Given the description of an element on the screen output the (x, y) to click on. 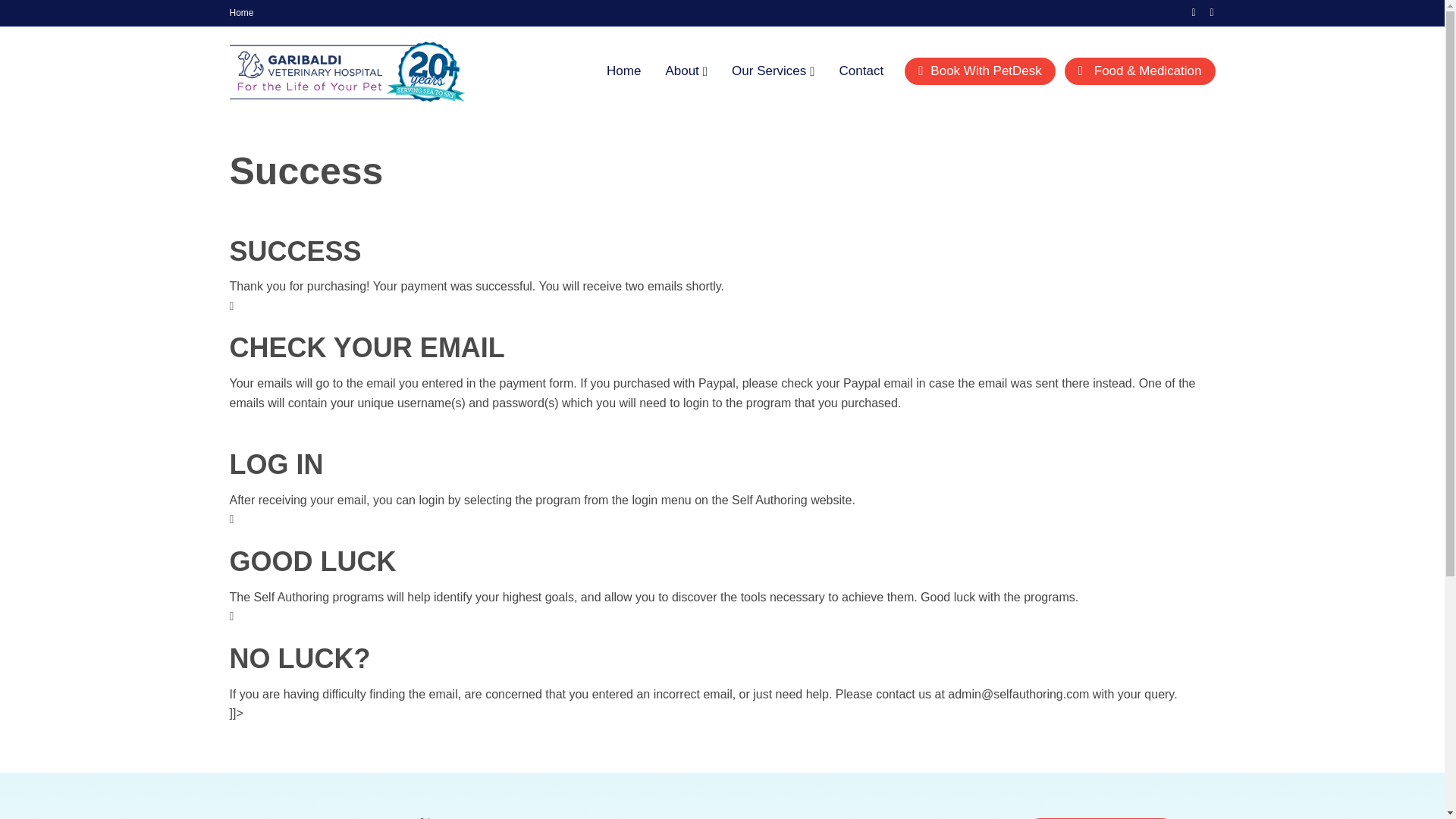
Contact (861, 70)
Home (623, 70)
Book With PetDesk (979, 71)
About (685, 70)
Facebook (1185, 11)
Instagram (1203, 11)
Home (240, 13)
Our Services (773, 70)
